Given the description of an element on the screen output the (x, y) to click on. 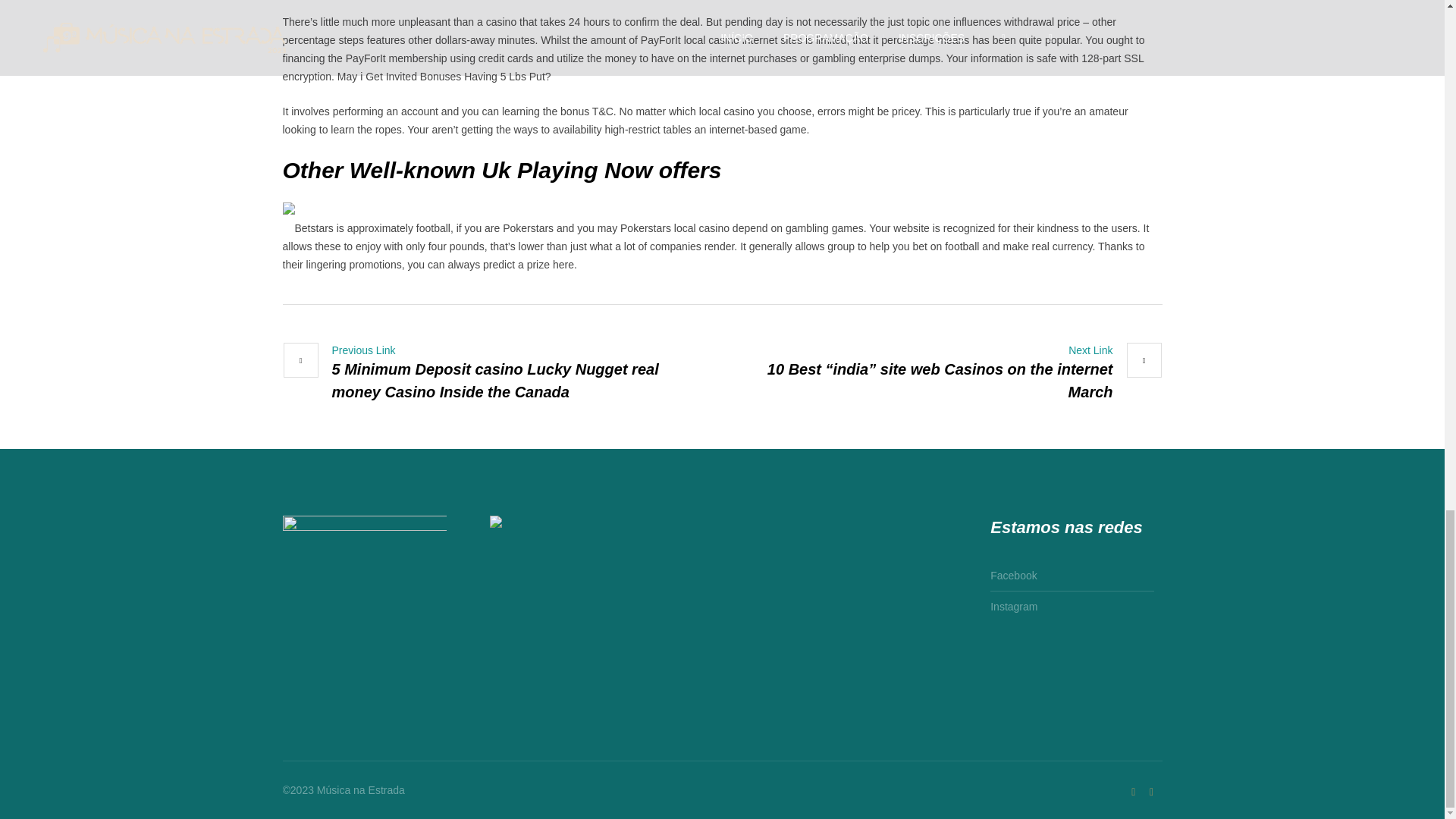
Facebook (1151, 792)
Instagram (1013, 603)
Facebook (1013, 578)
